Given the description of an element on the screen output the (x, y) to click on. 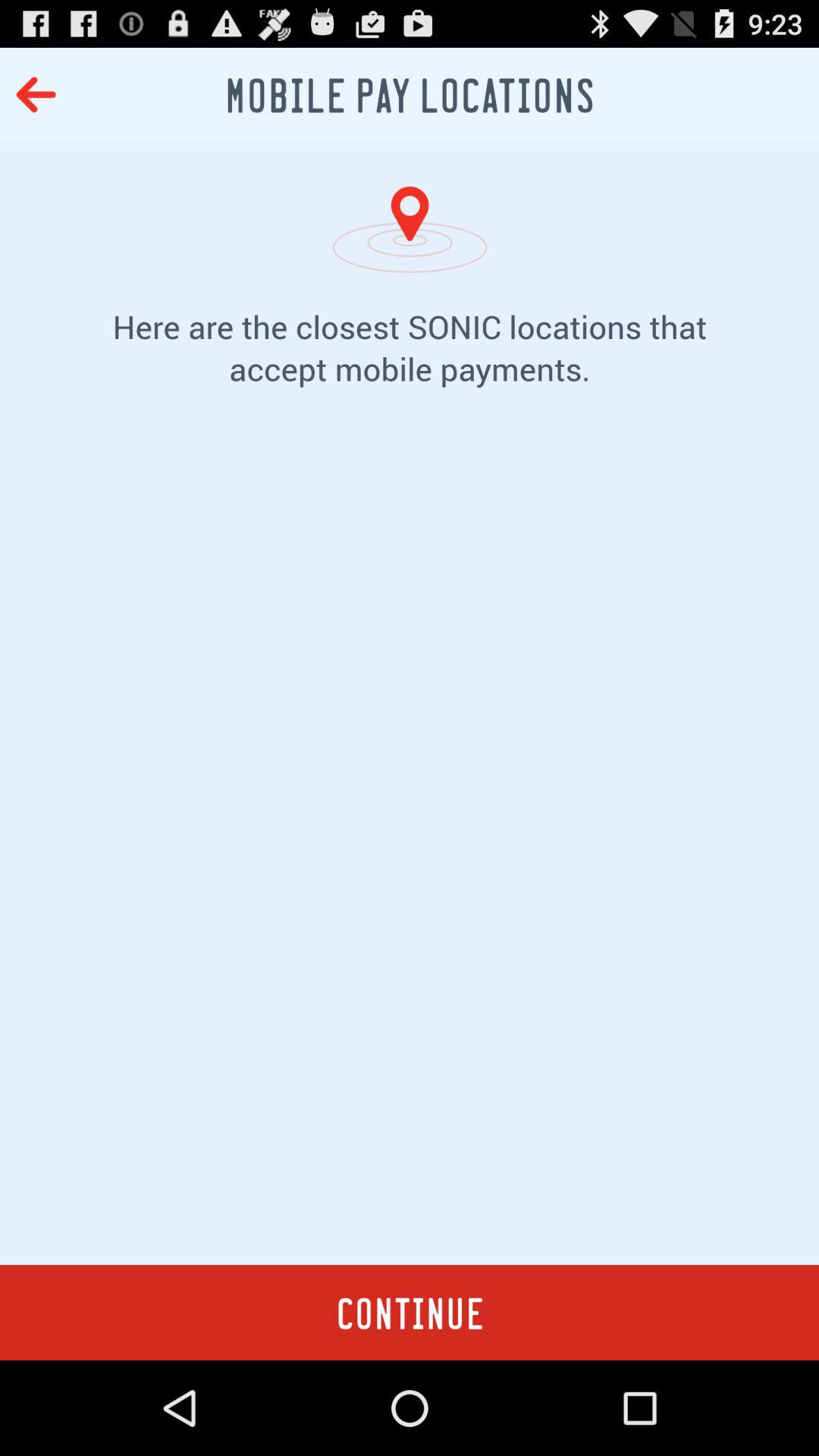
jump to continue item (409, 1312)
